Given the description of an element on the screen output the (x, y) to click on. 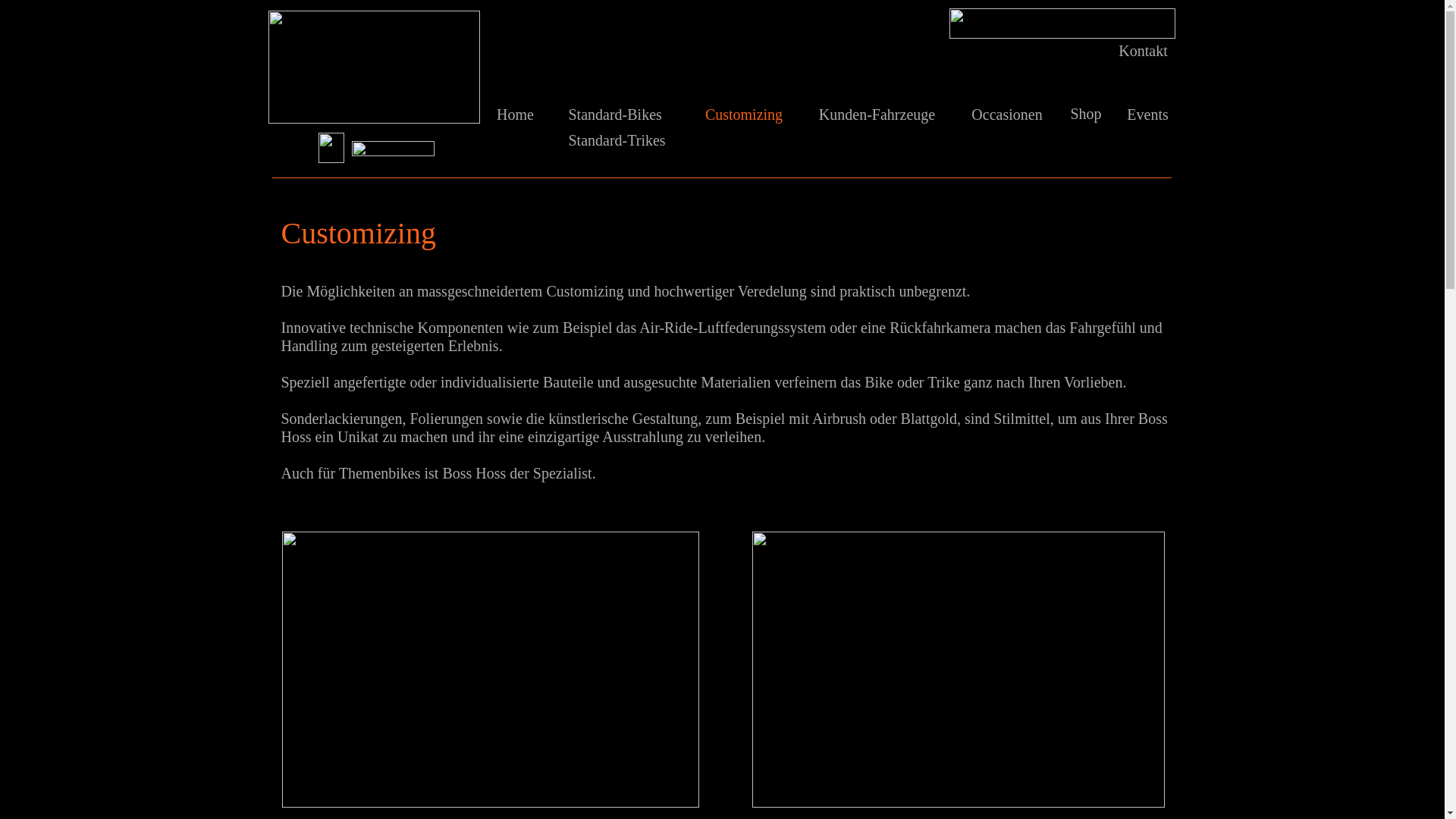
Standard-Bikes Element type: text (615, 114)
Kunden-Fahrzeuge Element type: text (877, 114)
Shop Element type: text (1085, 113)
Kontakt Element type: text (1143, 50)
Standard-Bikes Element type: text (623, 114)
Home Element type: text (514, 114)
Occasionen Element type: text (1006, 114)
Kontakt Element type: text (1142, 50)
Shop Element type: text (1085, 112)
Events Element type: text (1147, 114)
Standard-Trikes Element type: text (616, 139)
Home Element type: text (515, 114)
  Element type: text (267, 6)
Events Element type: text (1146, 114)
Occasionen Element type: text (1006, 114)
Kunden-Fahrzeuge Element type: text (877, 114)
Standard-Trikes Element type: text (624, 140)
Customizing Element type: text (743, 114)
Customizing Element type: text (743, 114)
